Given the description of an element on the screen output the (x, y) to click on. 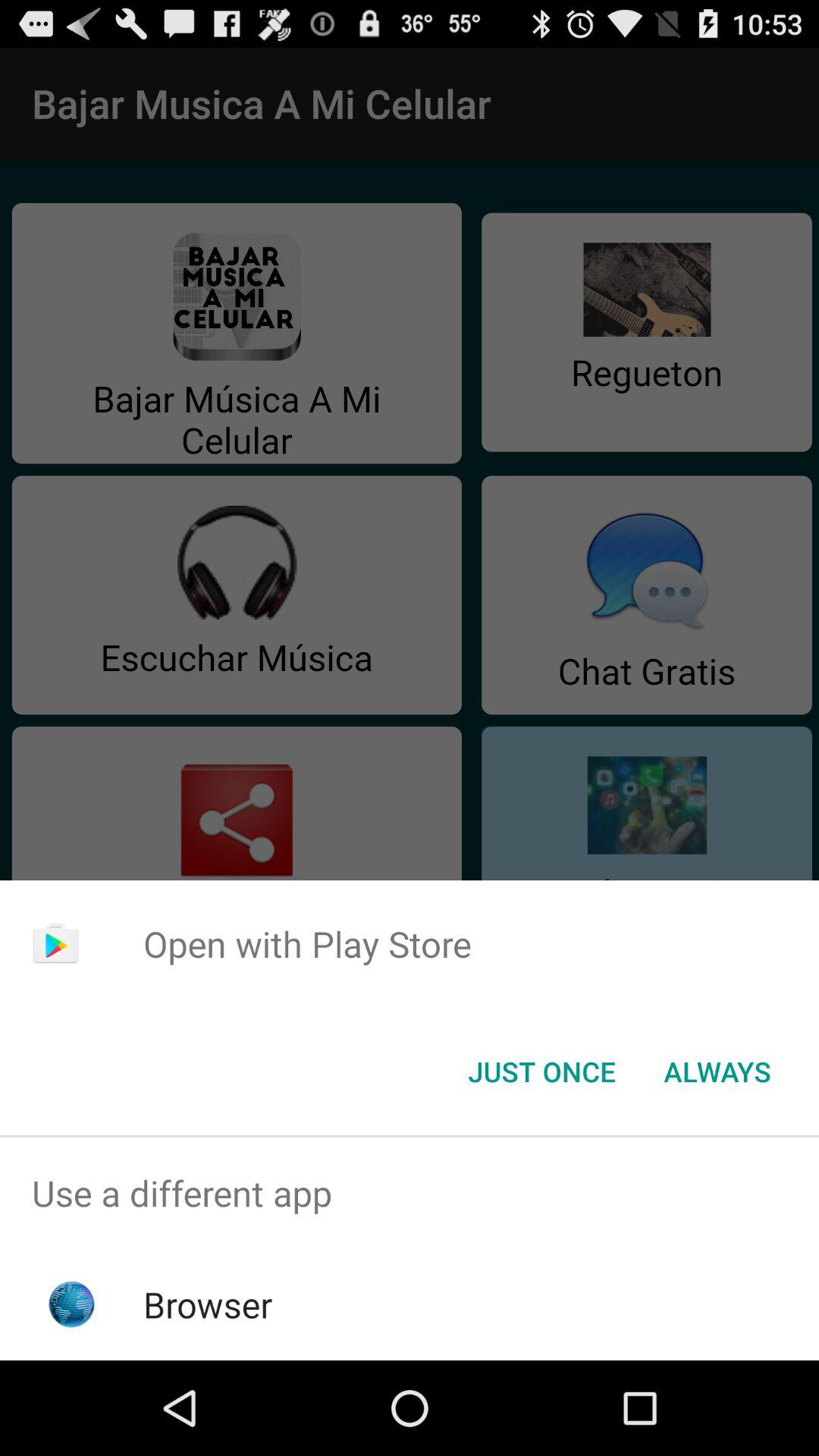
choose use a different app (409, 1192)
